Given the description of an element on the screen output the (x, y) to click on. 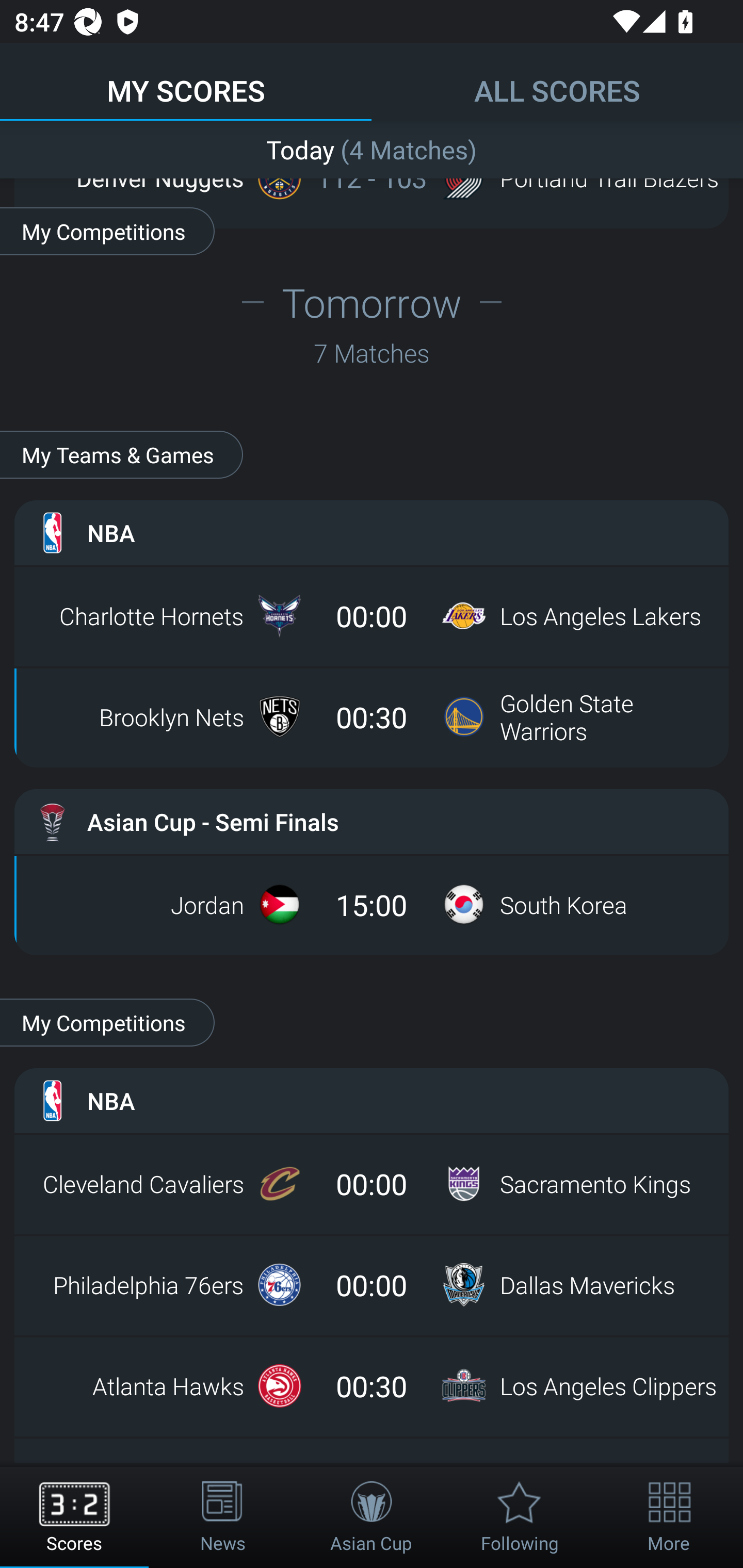
MY SCORES (185, 81)
ALL SCORES (557, 81)
NBA (371, 533)
Charlotte Hornets 00:00 Los Angeles Lakers (371, 616)
Brooklyn Nets 00:30 Golden State Warriors (371, 716)
Asian Cup - Semi Finals (371, 821)
Jordan 15:00 South Korea (371, 904)
NBA (371, 1100)
Cleveland Cavaliers 00:00 Sacramento Kings (371, 1183)
Philadelphia 76ers 00:00 Dallas Mavericks (371, 1284)
Atlanta Hawks 00:30 Los Angeles Clippers (371, 1385)
News (222, 1517)
Asian Cup (371, 1517)
Following (519, 1517)
More (668, 1517)
